Given the description of an element on the screen output the (x, y) to click on. 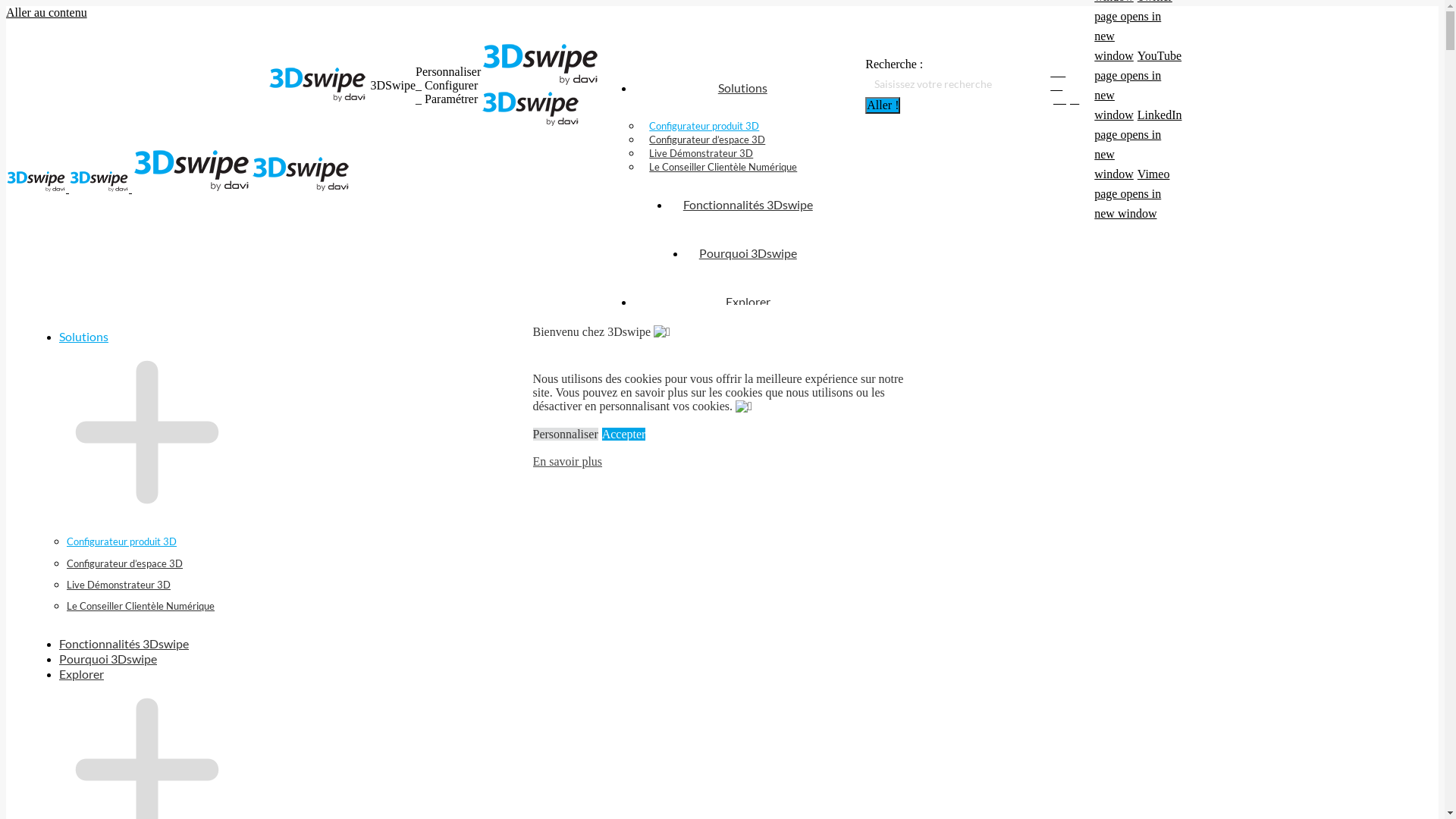
Etudes de cas Element type: text (678, 339)
Vimeo page opens in new window Element type: text (1131, 193)
Pourquoi 3Dswipe Element type: text (748, 252)
Search form Element type: hover (950, 84)
Configurateur produit 3D Element type: text (121, 540)
YouTube page opens in new window Element type: text (1137, 85)
Contact Element type: text (808, 390)
Solutions Element type: text (741, 87)
Aller ! Element type: text (882, 105)
Aller au contenu Element type: text (46, 12)
En savoir plus Element type: text (567, 461)
Personnaliser Element type: text (564, 433)
Services & Tarifs Element type: text (717, 390)
J'ai un projet Element type: text (1064, 85)
Pourquoi 3Dswipe Element type: text (117, 658)
LinkedIn page opens in new window Element type: text (1137, 144)
Explorer Element type: text (747, 301)
Accepter Element type: text (624, 433)
Explorer Element type: text (90, 673)
Solutions Element type: text (93, 337)
Configurateur produit 3D Element type: text (703, 125)
